Given the description of an element on the screen output the (x, y) to click on. 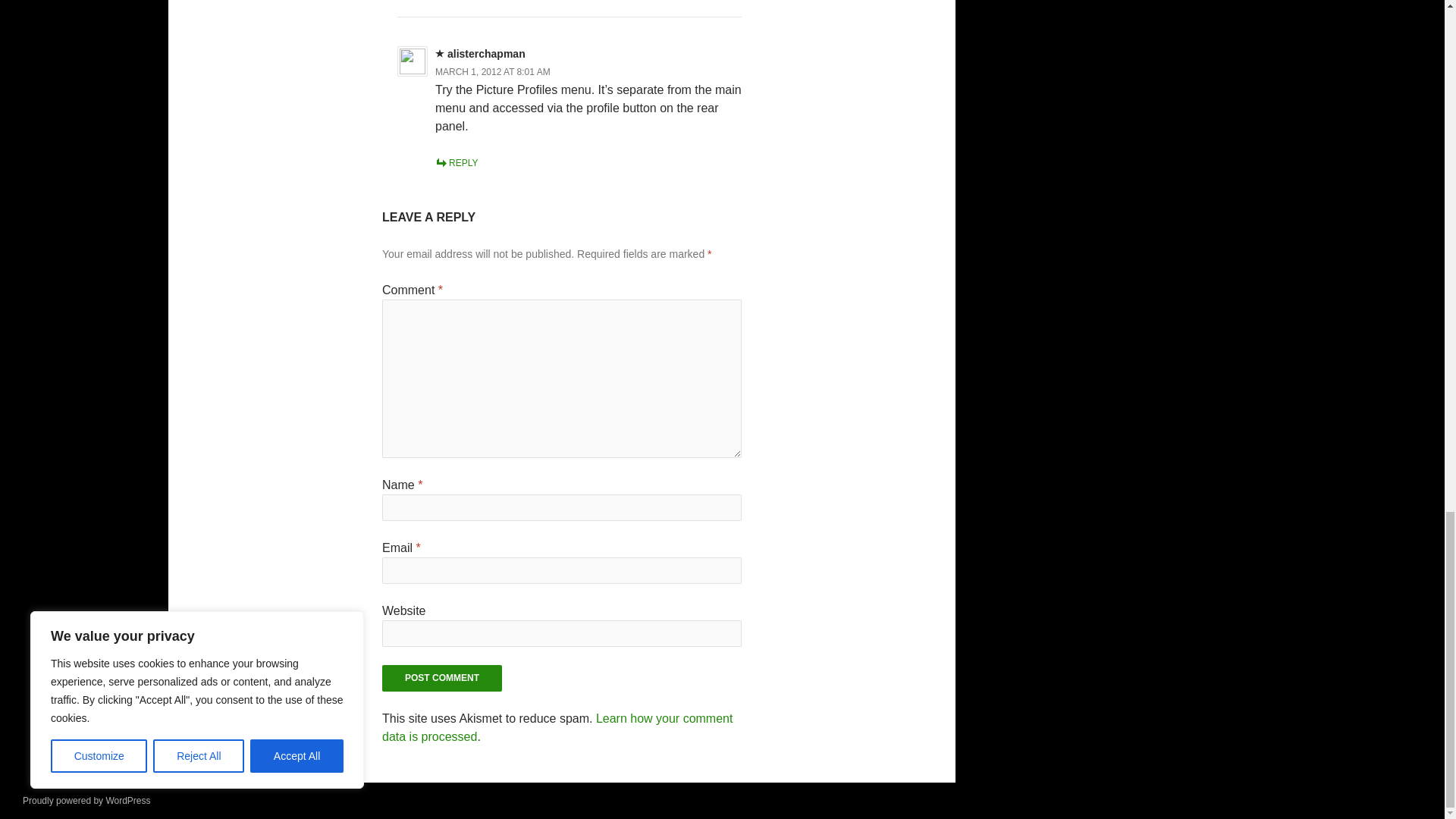
Post Comment (441, 678)
